Given the description of an element on the screen output the (x, y) to click on. 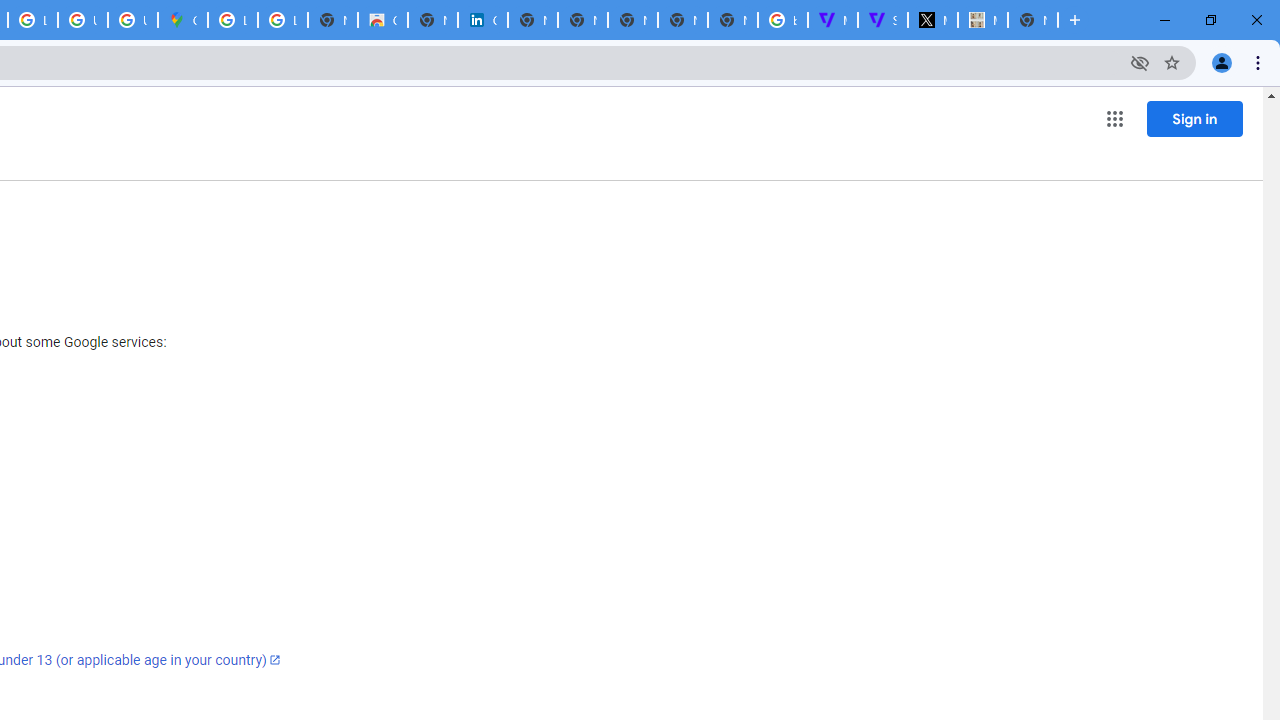
New Tab (1032, 20)
Google Maps (182, 20)
Chrome Web Store (383, 20)
Cookie Policy | LinkedIn (483, 20)
MILEY CYRUS. (982, 20)
